Given the description of an element on the screen output the (x, y) to click on. 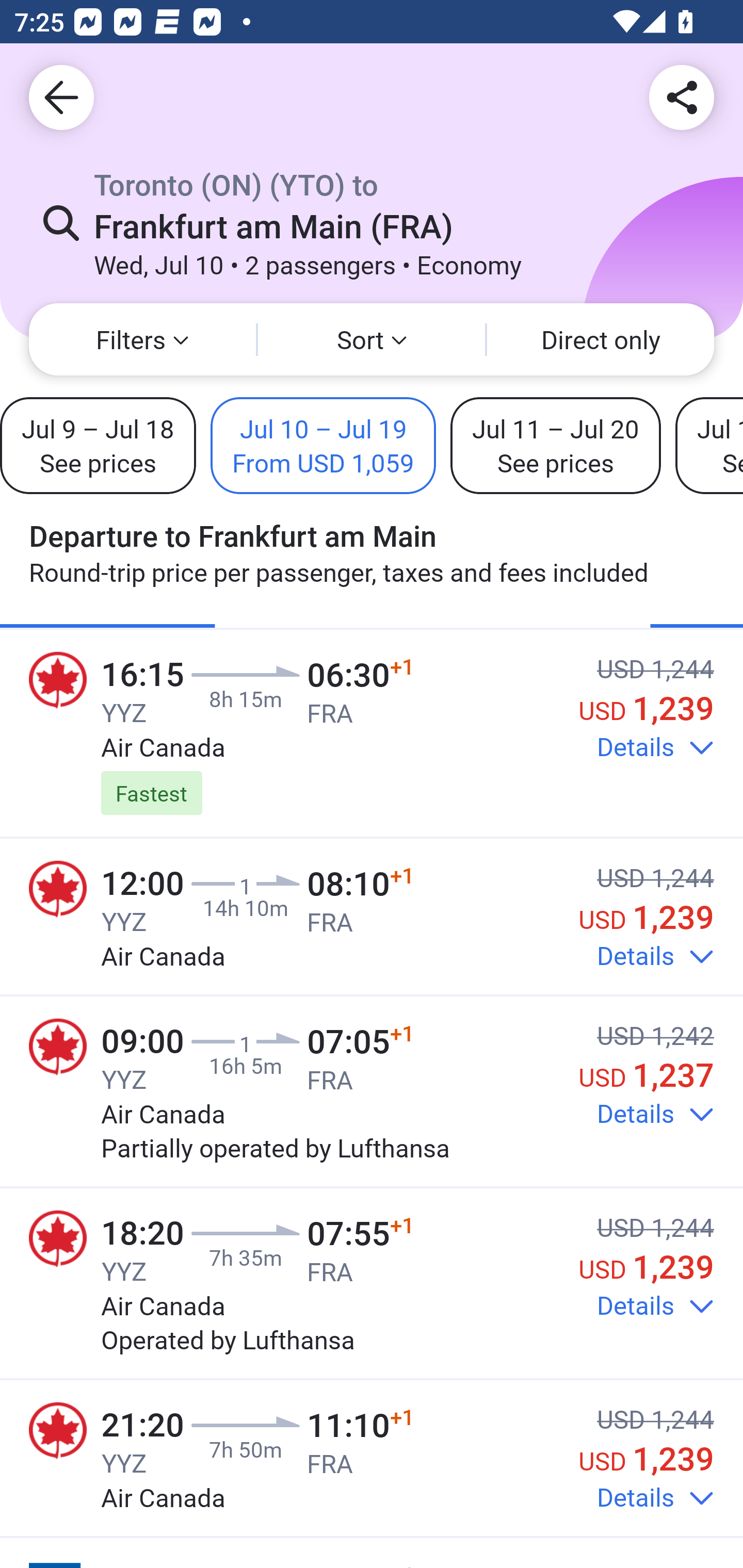
Filters (141, 339)
Sort (371, 339)
Direct only (600, 339)
Jul 9 – Jul 18 See prices (98, 444)
Jul 10 – Jul 19 From USD 1,059 (323, 444)
Jul 11 – Jul 20 See prices (555, 444)
